Given the description of an element on the screen output the (x, y) to click on. 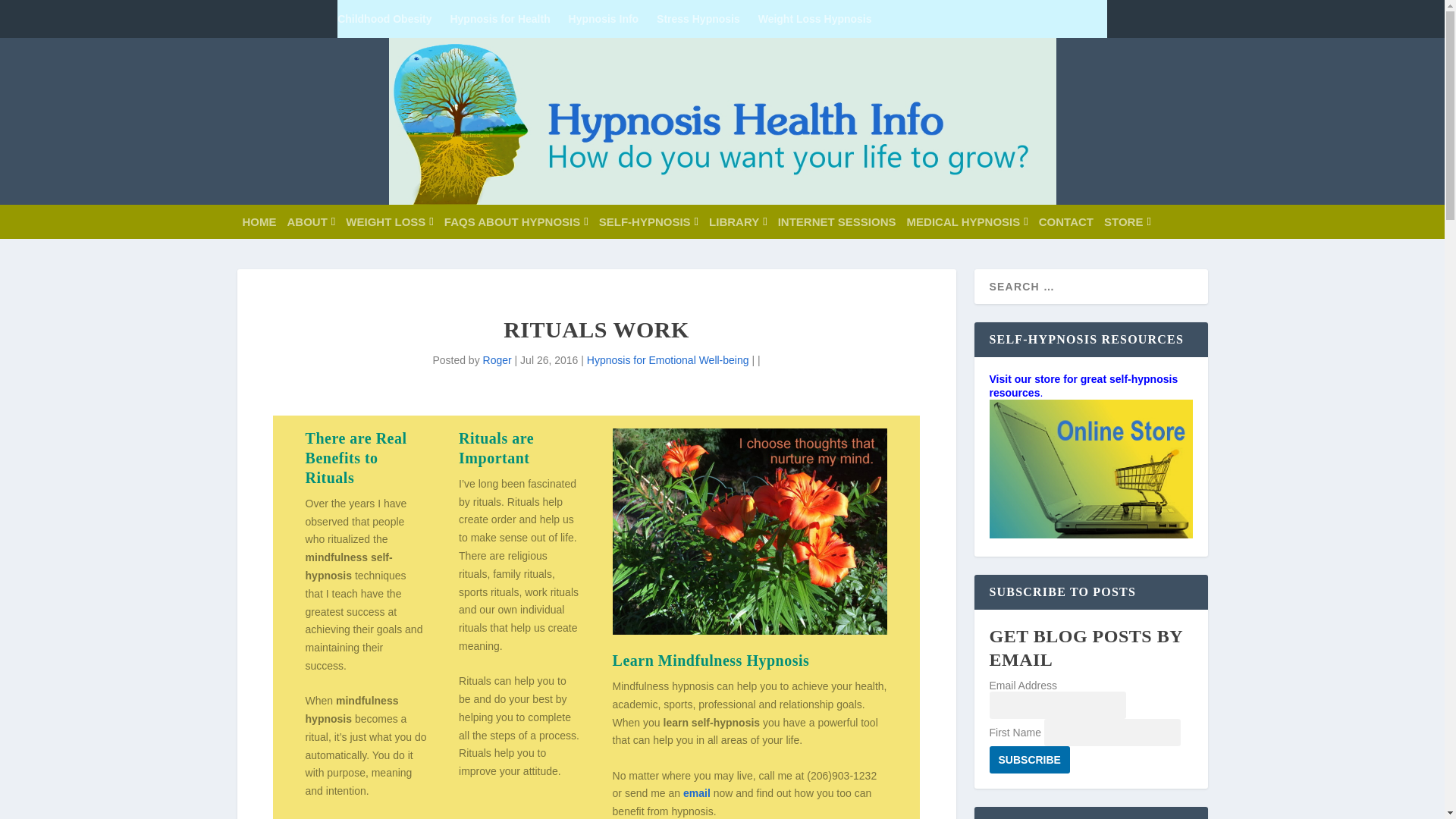
Hypnosis for Health (499, 18)
ABOUT (310, 221)
Weight Loss Hypnosis (815, 18)
MEDICAL HYPNOSIS (967, 221)
FAQS ABOUT HYPNOSIS (516, 221)
Stress Hypnosis (697, 18)
Hypnosis Info (604, 18)
Posts by Roger (497, 359)
Subscribe (1028, 759)
Childhood Obesity (383, 18)
INTERNET SESSIONS (836, 221)
SELF-HYPNOSIS (648, 221)
LIBRARY (738, 221)
HOME (259, 221)
WEIGHT LOSS (389, 221)
